Given the description of an element on the screen output the (x, y) to click on. 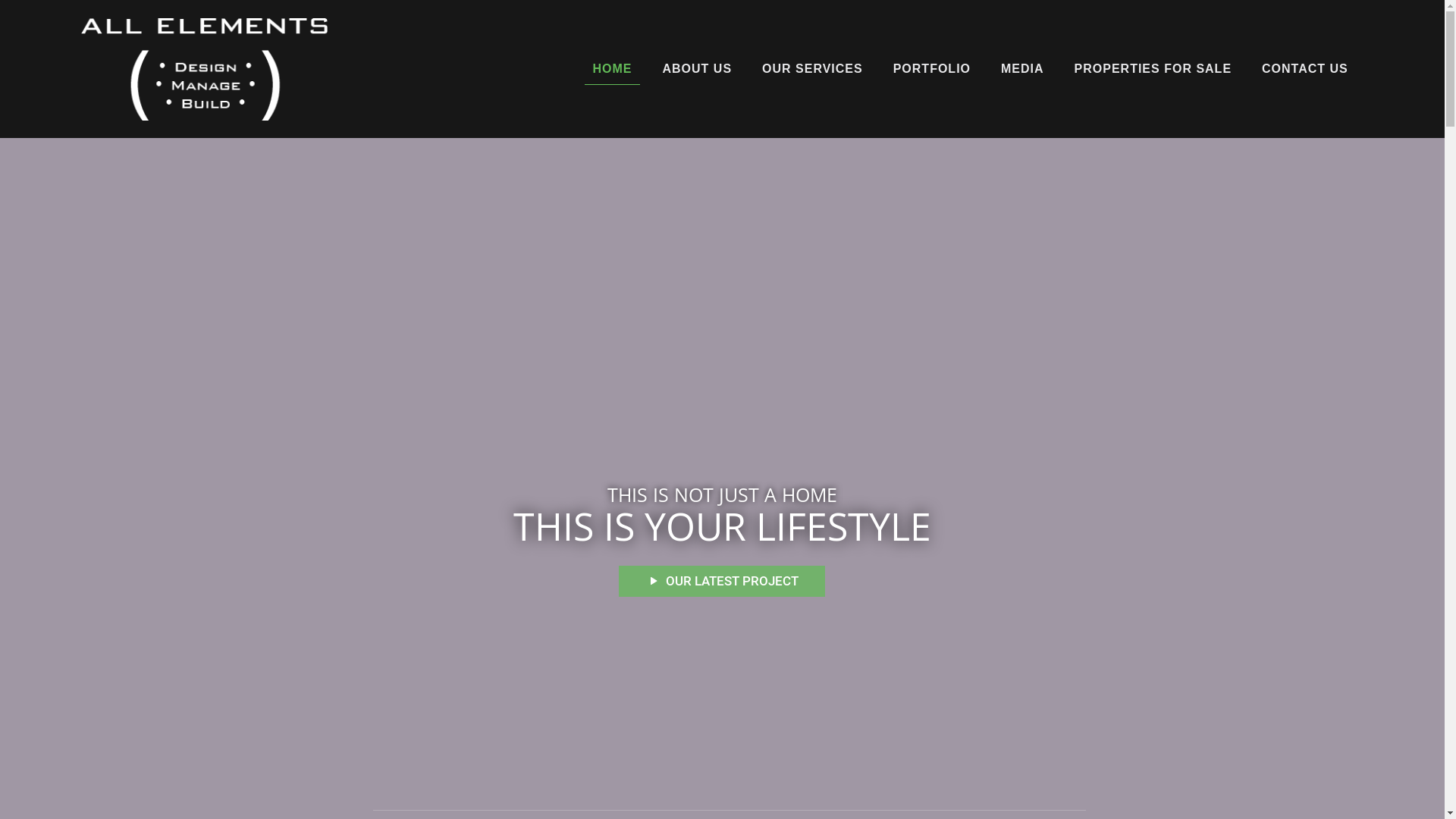
OUR SERVICES Element type: text (812, 68)
PROPERTIES FOR SALE Element type: text (1152, 68)
CONTACT US Element type: text (1304, 68)
PORTFOLIO Element type: text (931, 68)
HOME Element type: text (612, 68)
All Elements Element type: hover (204, 68)
MEDIA Element type: text (1022, 68)
OUR LATEST PROJECT Element type: text (721, 580)
ABOUT US Element type: text (697, 68)
